Given the description of an element on the screen output the (x, y) to click on. 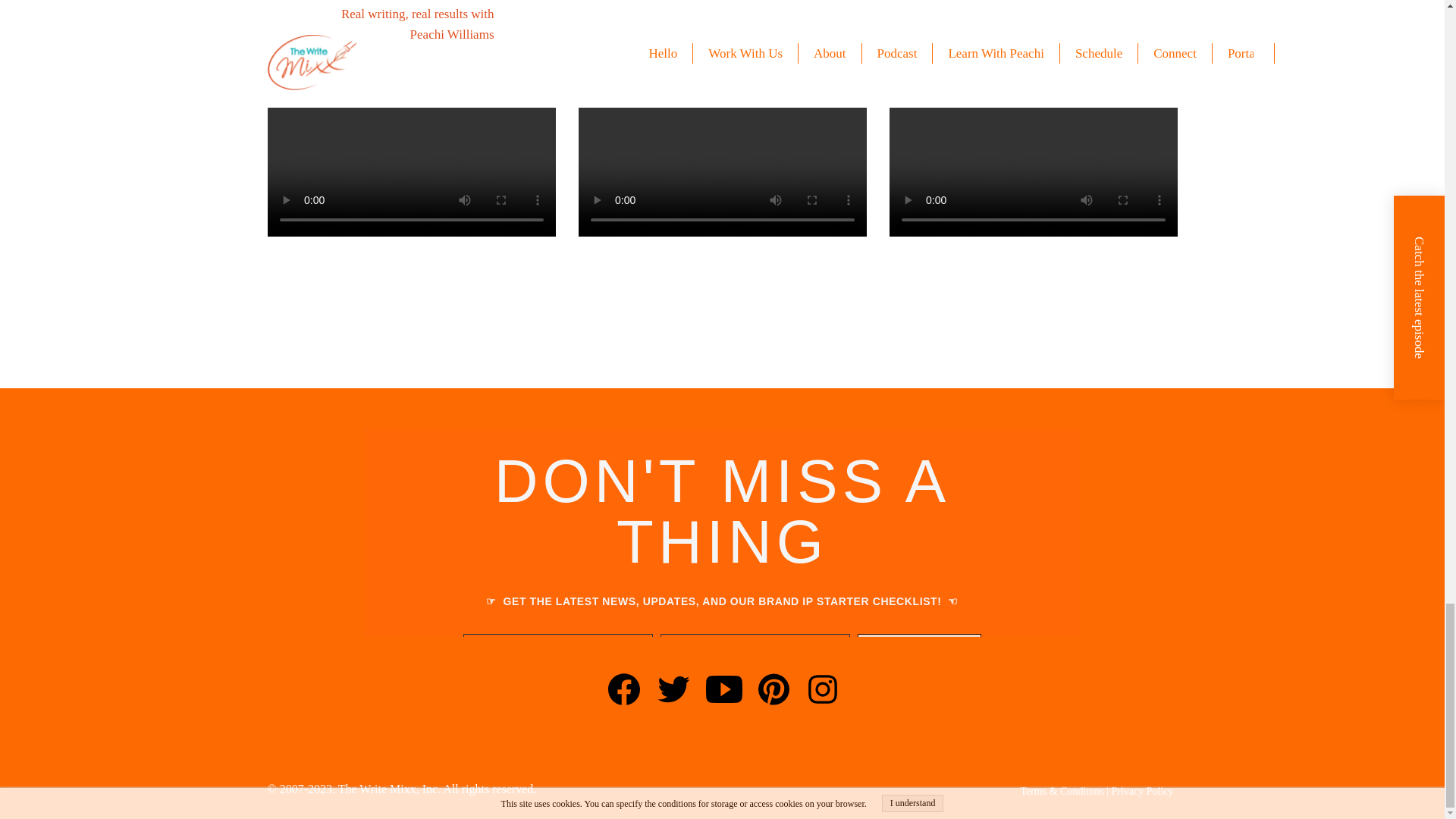
Privacy Policy (1141, 790)
